Given the description of an element on the screen output the (x, y) to click on. 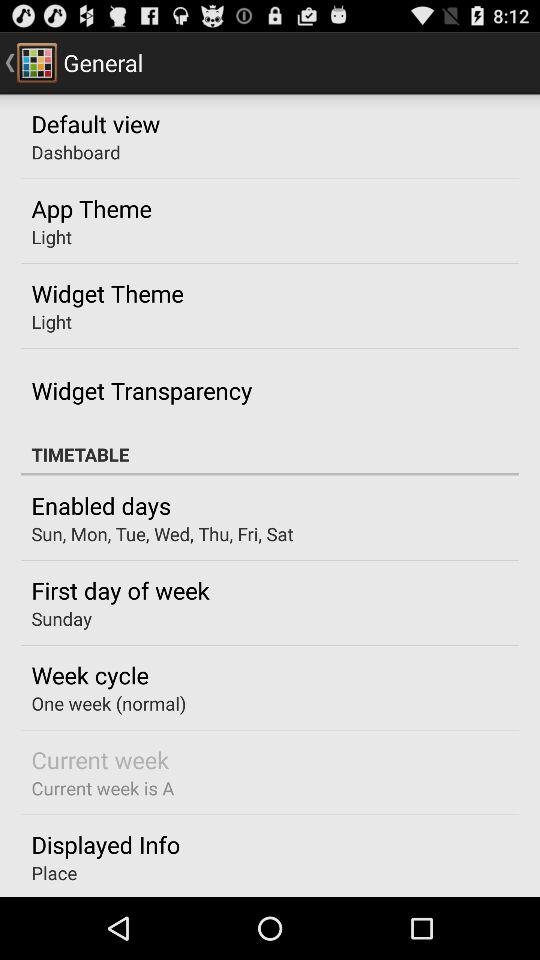
flip to app theme icon (91, 208)
